Given the description of an element on the screen output the (x, y) to click on. 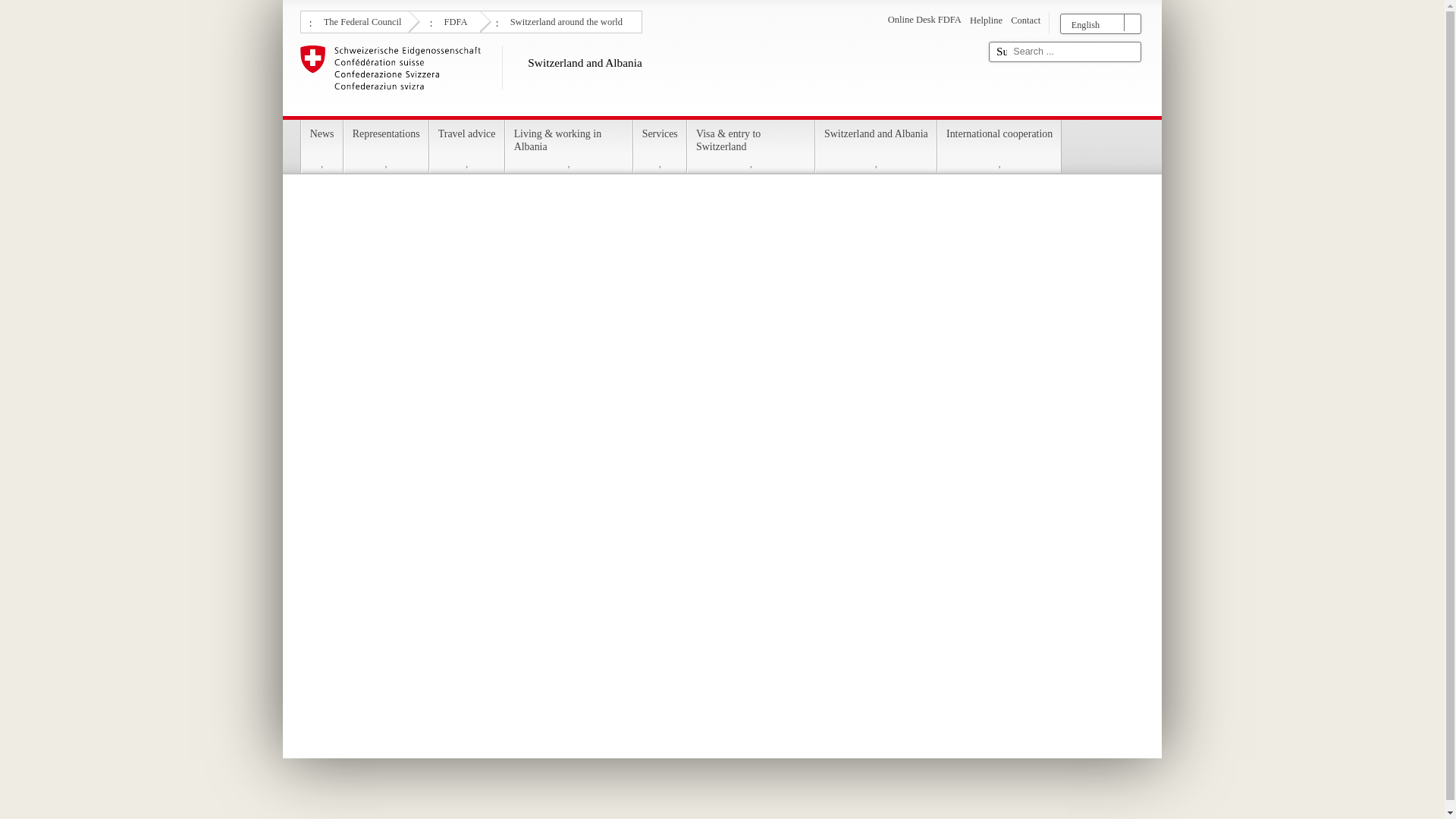
The Federal Council (360, 20)
FDFA (454, 20)
Switzerland around the world (564, 20)
Switzerland and Albania (637, 76)
